Given the description of an element on the screen output the (x, y) to click on. 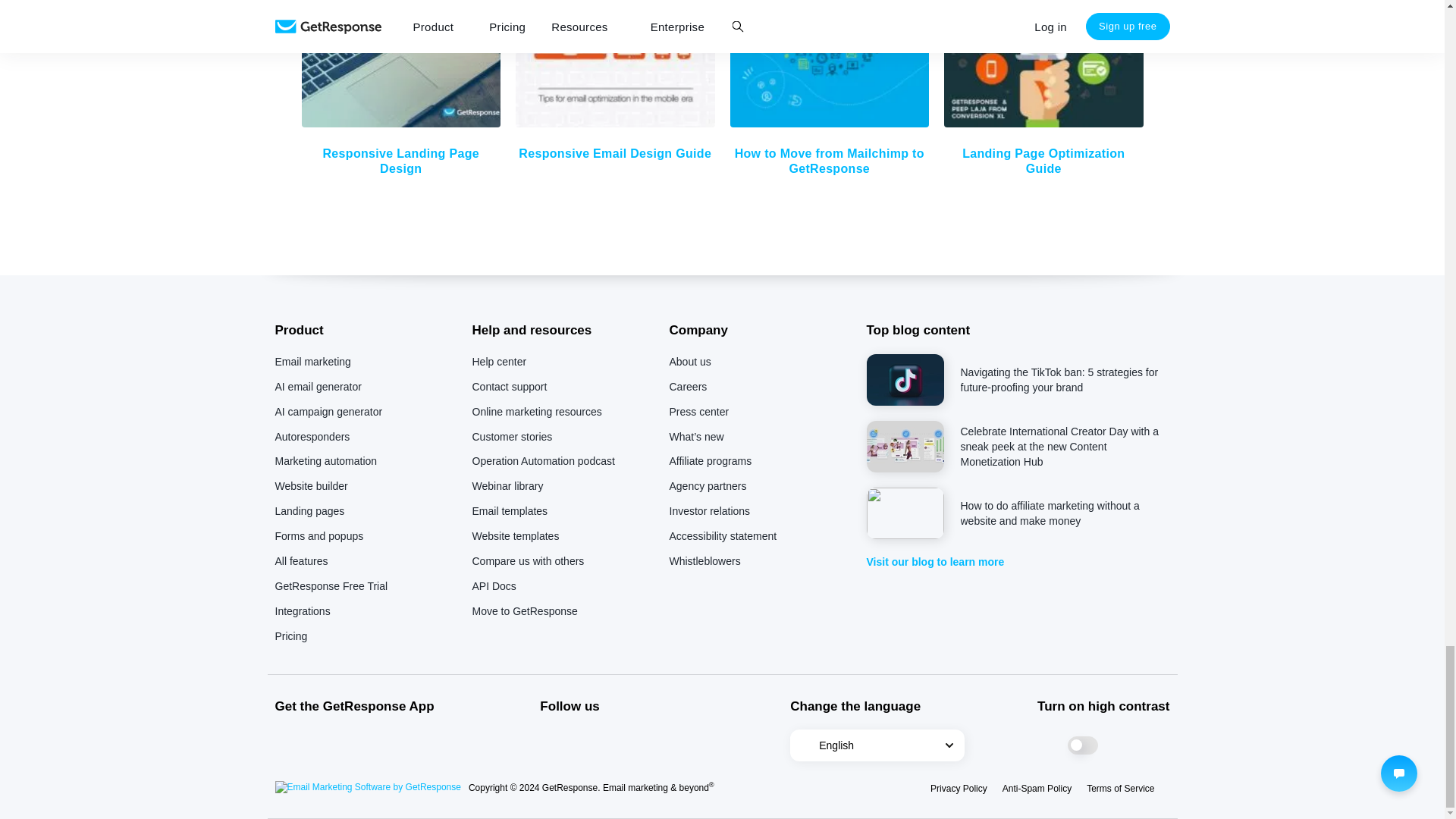
 Email Marketing Software by GetResponse (367, 787)
Language (876, 745)
